Given the description of an element on the screen output the (x, y) to click on. 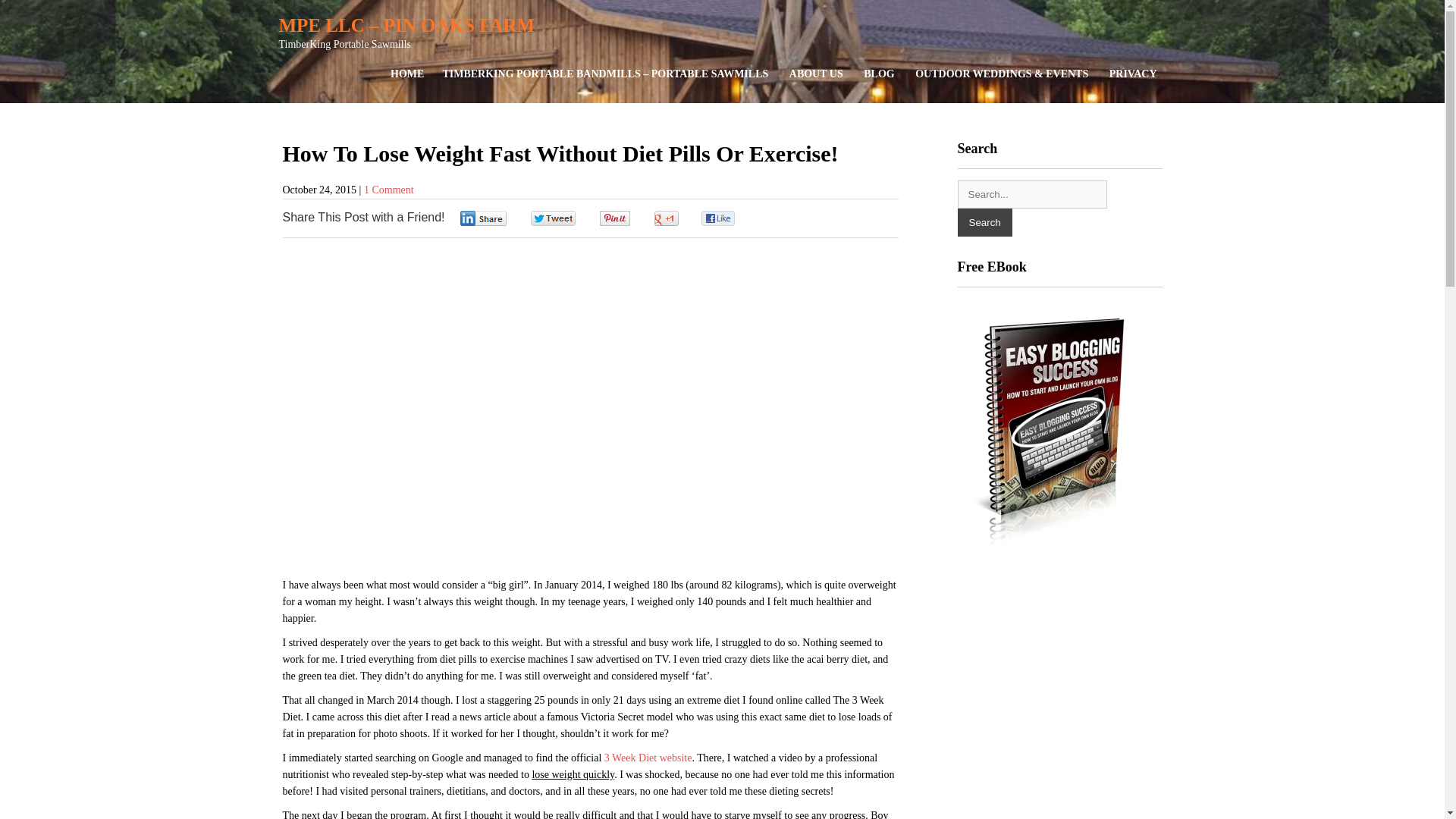
Search (983, 222)
1 Comment (388, 189)
PRIVACY (1133, 74)
3 Week Diet website (648, 757)
HOME (406, 74)
ABOUT US (815, 74)
Search (983, 222)
BLOG (878, 74)
Be the first one to tweet this article! (568, 218)
